Given the description of an element on the screen output the (x, y) to click on. 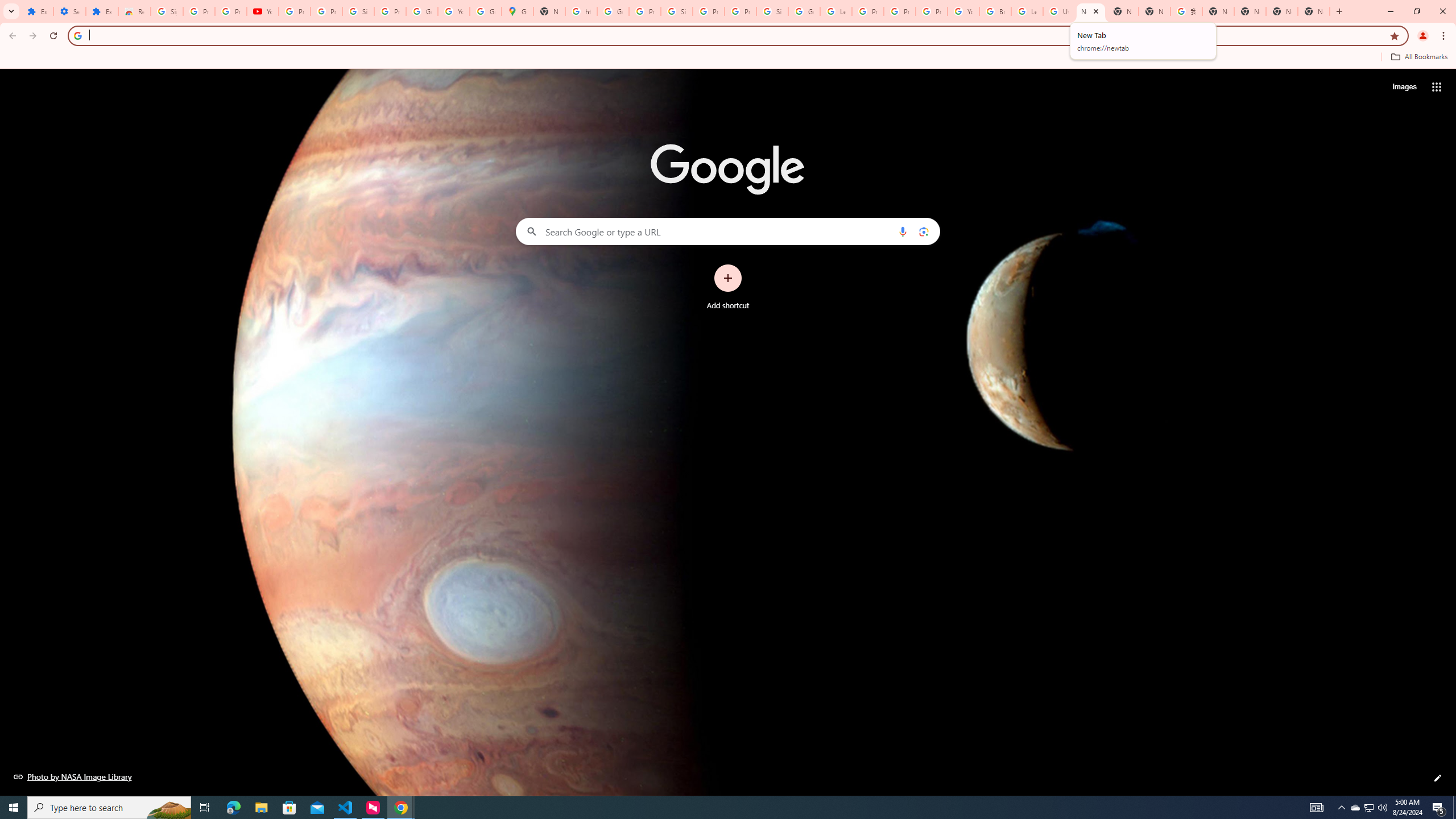
Privacy Help Center - Policies Help (899, 11)
Sign in - Google Accounts (772, 11)
Customize this page (1437, 778)
Search Google or type a URL (727, 230)
